Given the description of an element on the screen output the (x, y) to click on. 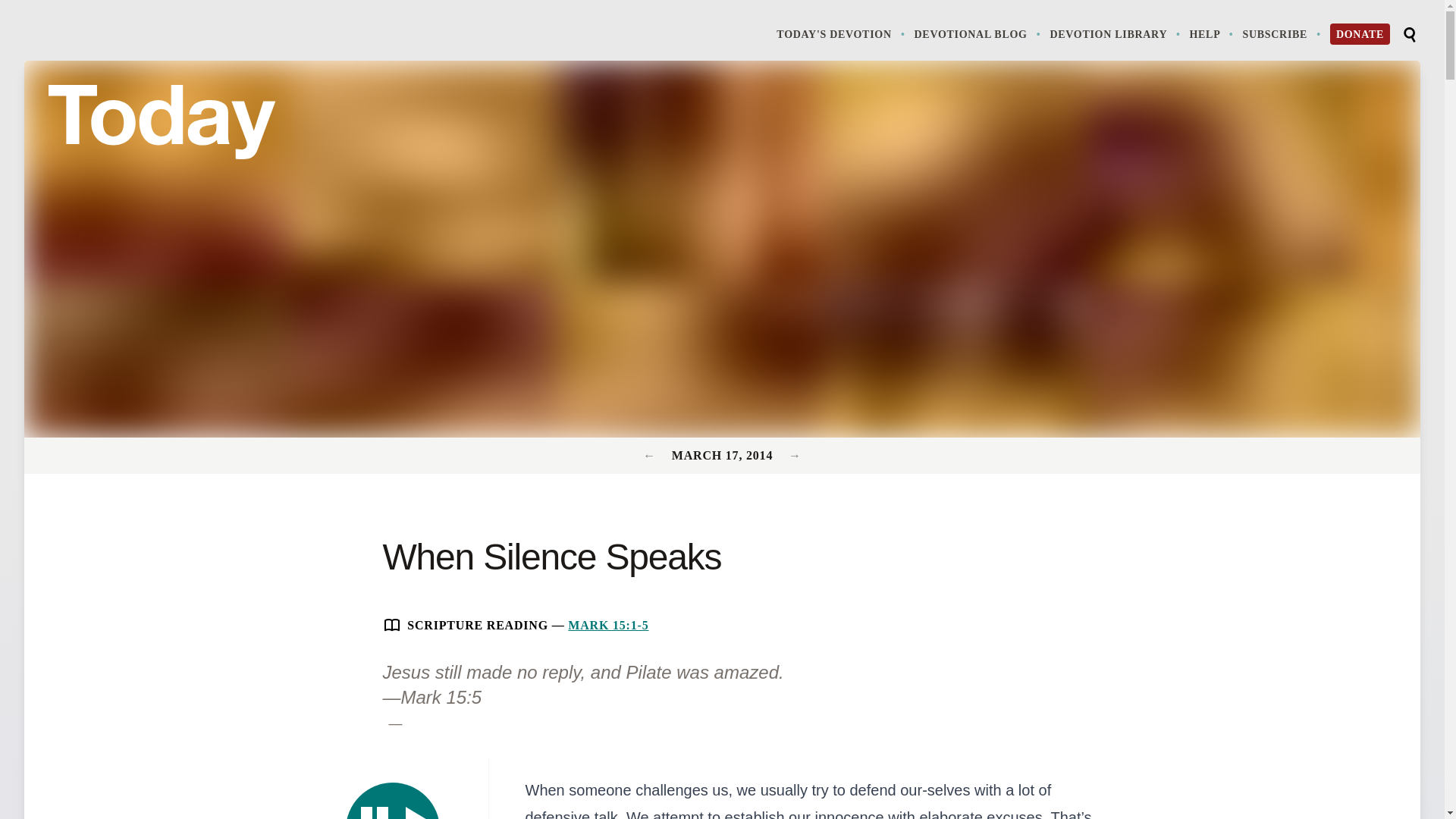
DEVOTIONAL BLOG (978, 34)
TODAY'S DEVOTION (841, 34)
SUBSCRIBE (1282, 34)
Search (1409, 34)
Previous Devotion: March 16, 2014 (651, 454)
MARK 15:1-5 (607, 625)
DEVOTION LIBRARY (392, 800)
HELP (1115, 34)
Previous Devotion: March 17, 2014 (1212, 34)
DONATE (795, 454)
